Given the description of an element on the screen output the (x, y) to click on. 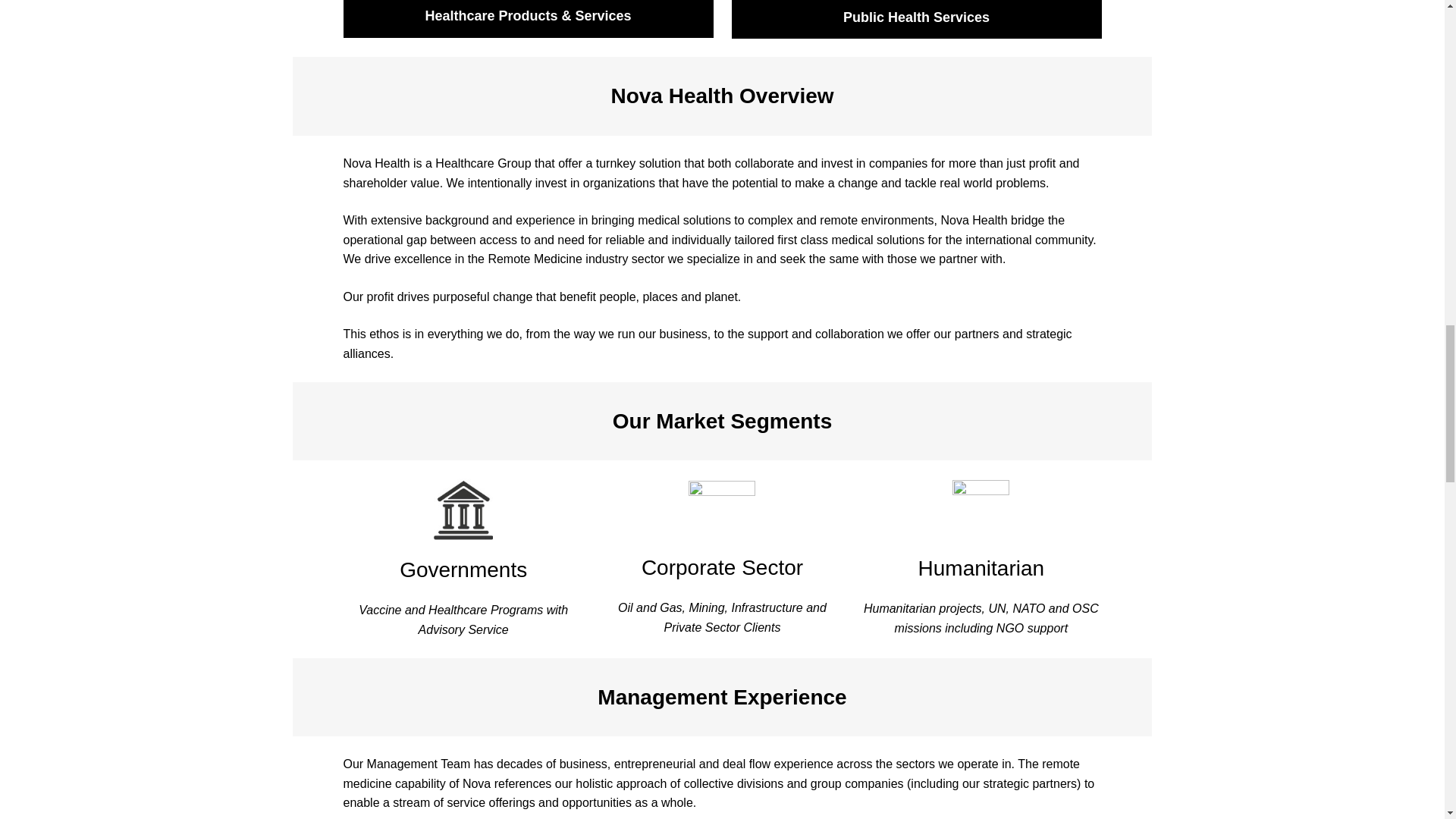
Public Health Services (915, 19)
